Given the description of an element on the screen output the (x, y) to click on. 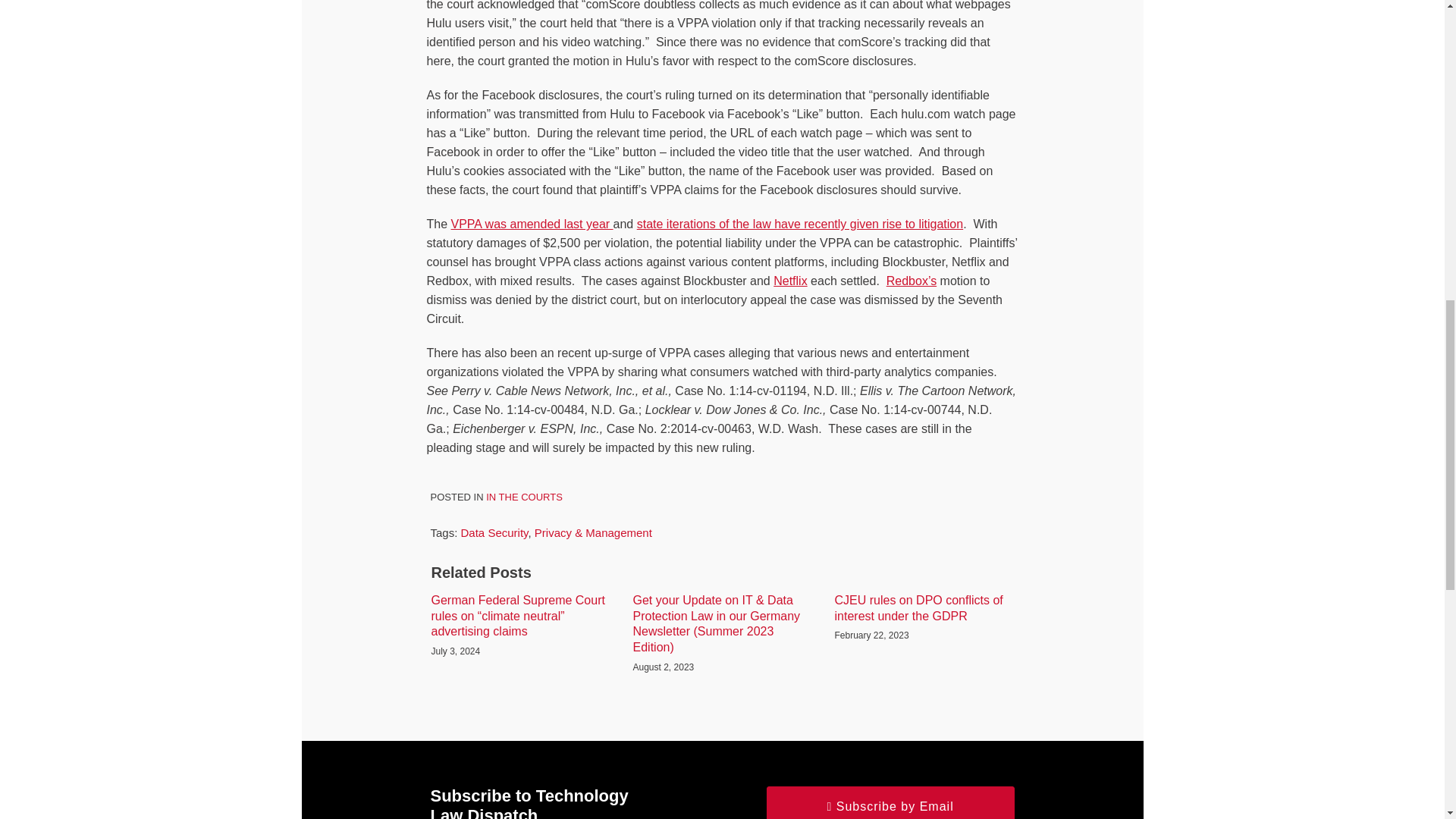
Netflix (789, 280)
CJEU rules on DPO conflicts of interest under the GDPR (923, 608)
IN THE COURTS (524, 496)
Data Security (494, 532)
VPPA was amended last year (531, 223)
Subscribe by Email (890, 802)
